Given the description of an element on the screen output the (x, y) to click on. 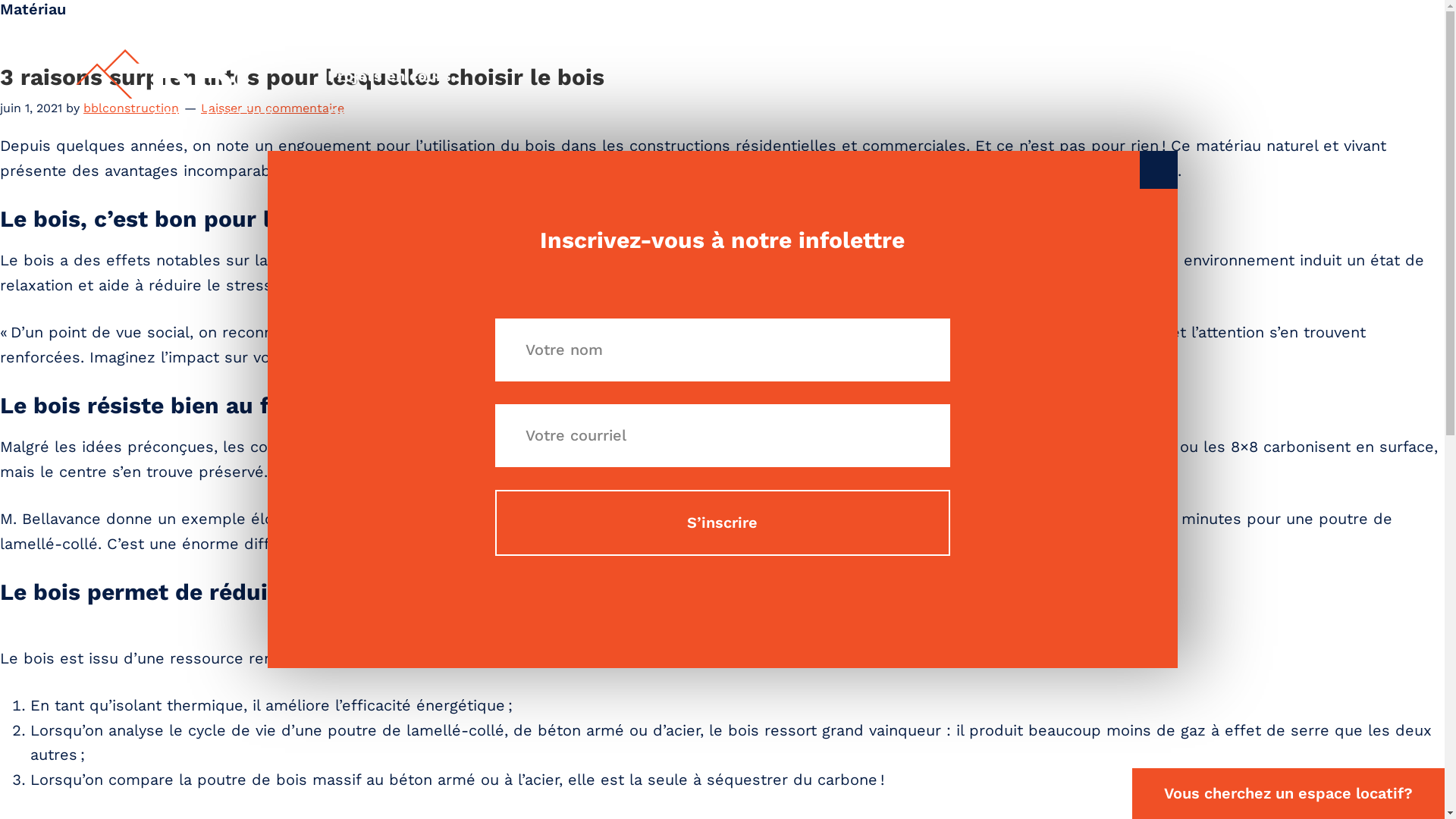
Projets en cours Element type: text (447, 77)
Laisser un commentaire Element type: text (272, 107)
CECOBOIS, Element type: text (658, 260)
bblconstruction Element type: text (130, 107)
3 raisons surprenantes pour lesquelles choisir le bois Element type: text (302, 76)
Contact Element type: text (1323, 86)
Nouvelles Element type: text (1116, 86)
Infolettre Element type: text (1007, 86)
